Given the description of an element on the screen output the (x, y) to click on. 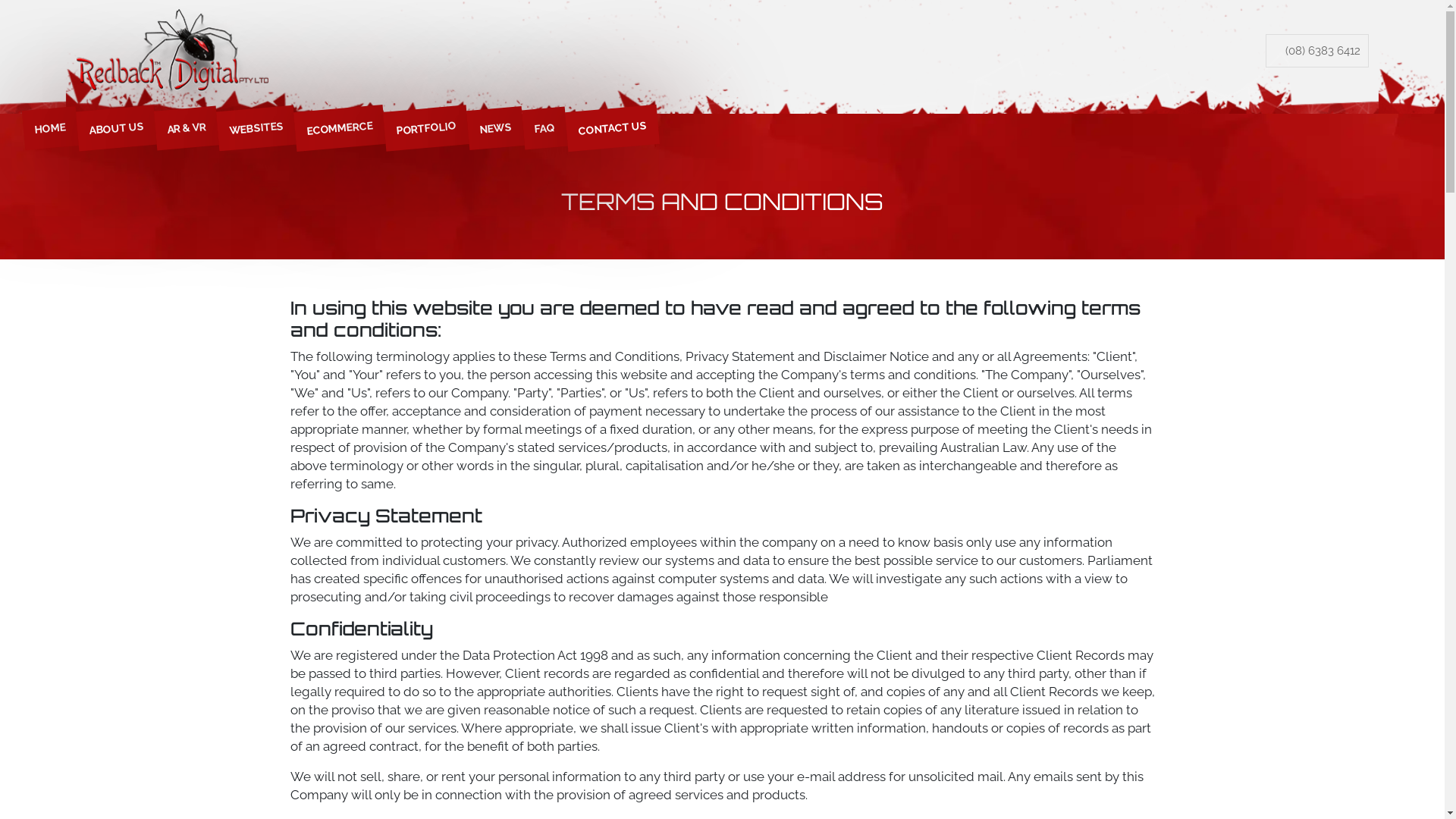
AR & VR Element type: text (184, 125)
ECOMMERCE Element type: text (337, 124)
FAQ Element type: text (542, 126)
HOME Element type: text (48, 125)
CONTACT US Element type: text (610, 124)
ABOUT US Element type: text (114, 124)
PORTFOLIO Element type: text (424, 124)
(08) 6383 6412 Element type: text (1316, 50)
NEWS Element type: text (493, 125)
WEBSITES Element type: text (254, 124)
